Given the description of an element on the screen output the (x, y) to click on. 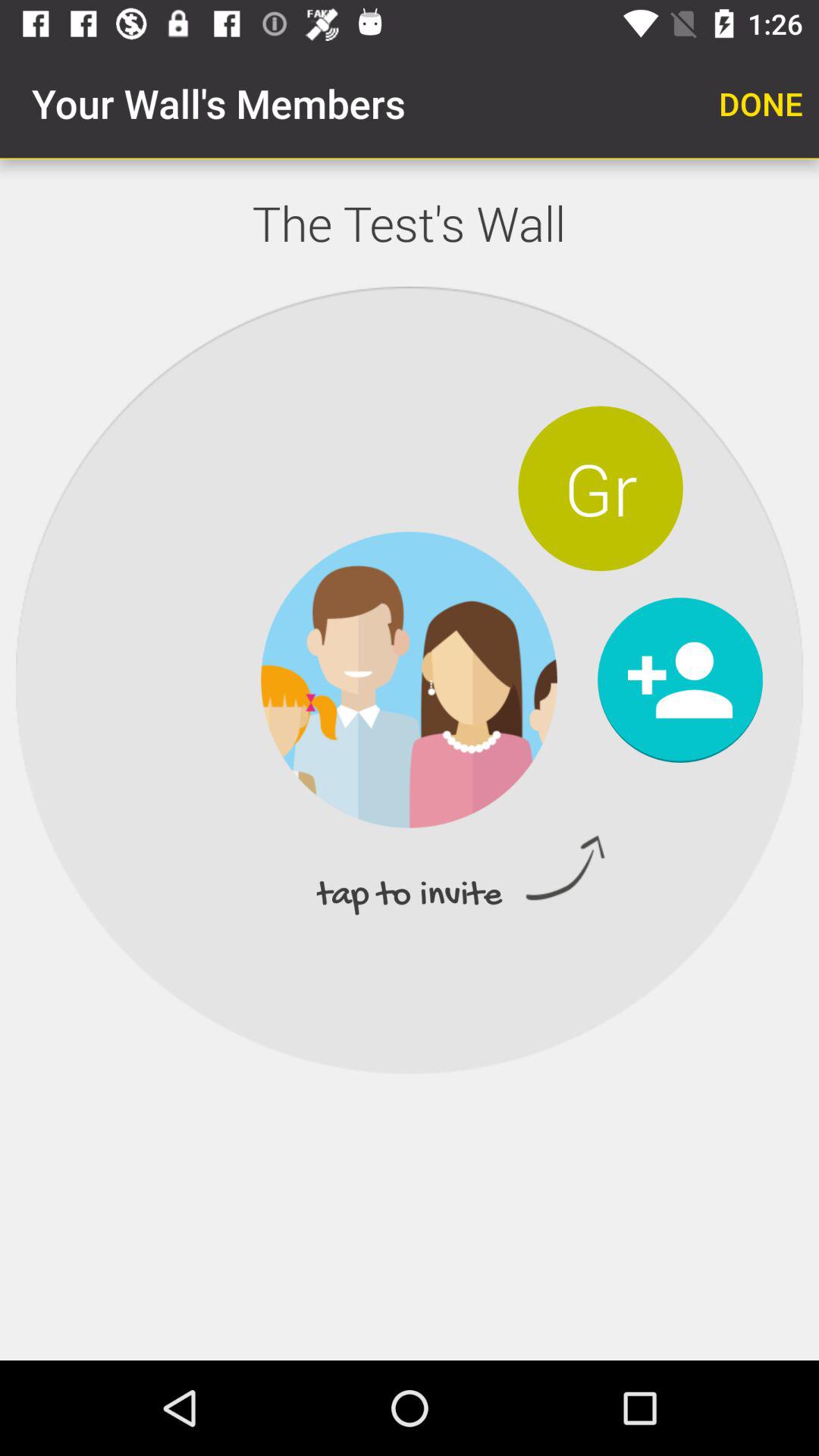
jump to done item (760, 103)
